Given the description of an element on the screen output the (x, y) to click on. 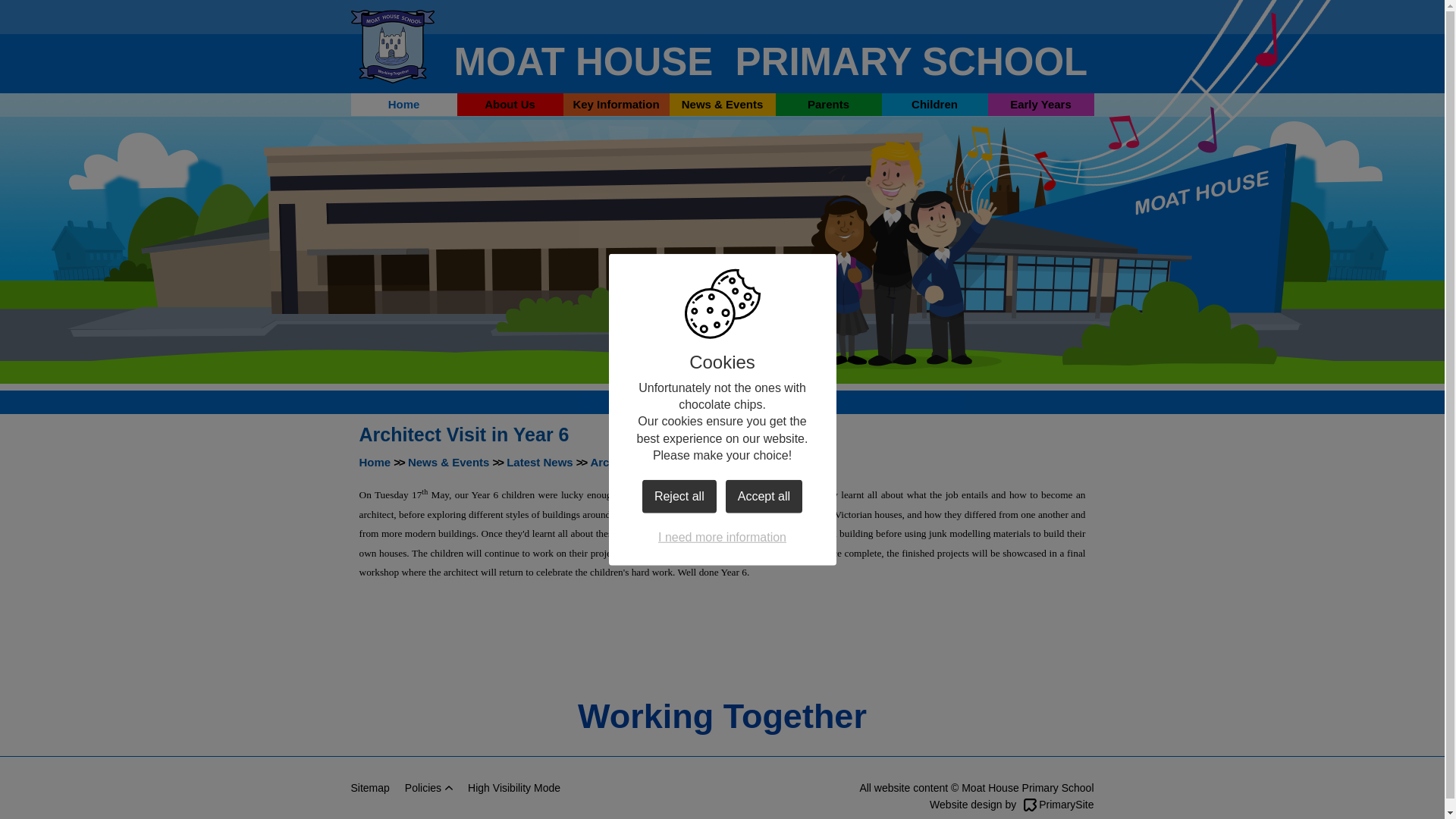
About Us (509, 104)
Key Information (615, 104)
Home Page (391, 46)
Log In (1008, 17)
Home (403, 104)
